Given the description of an element on the screen output the (x, y) to click on. 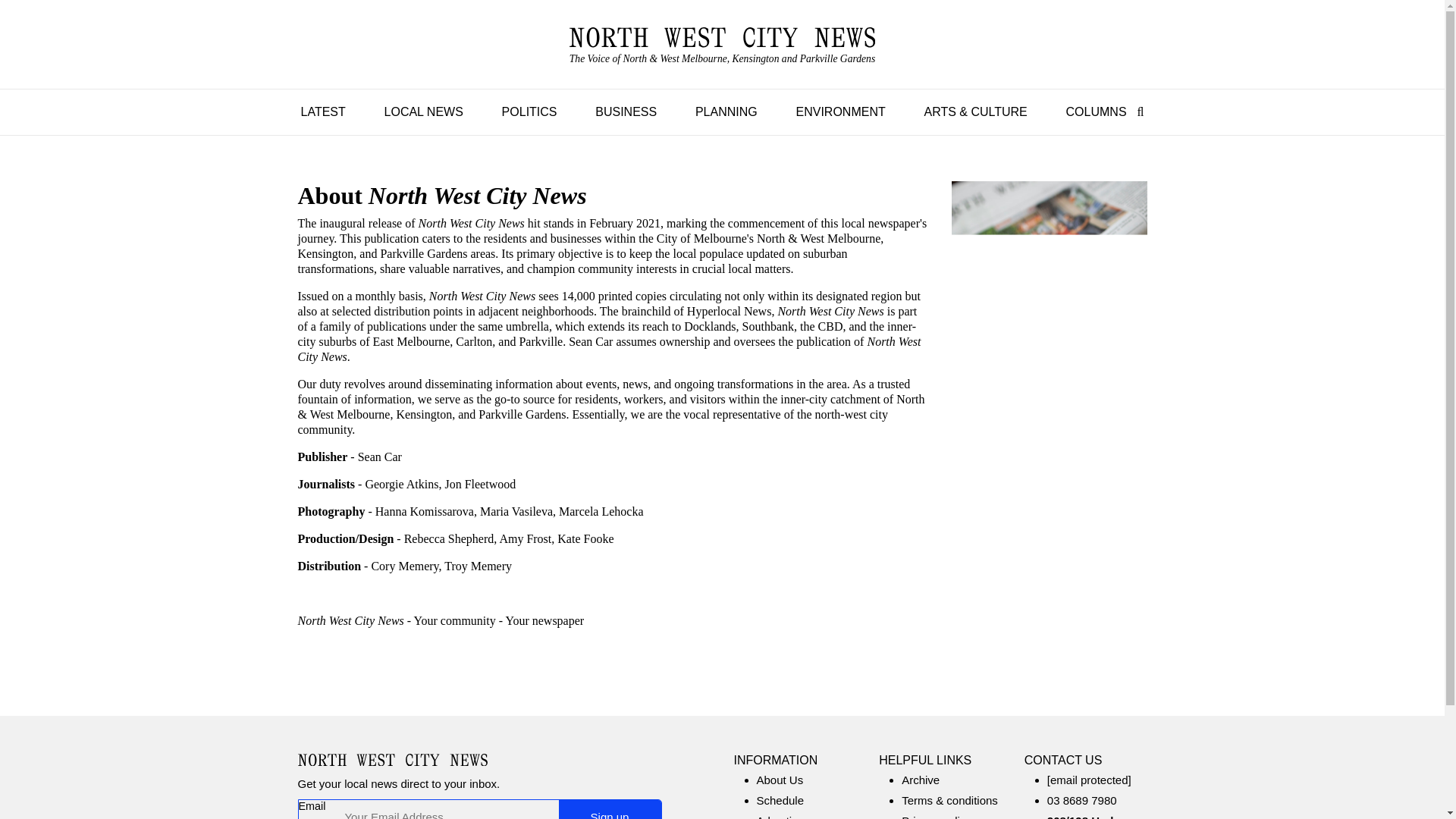
PLANNING (726, 111)
Search (1136, 111)
LATEST (322, 111)
Schedule (781, 799)
LOCAL NEWS (423, 111)
Advertise (781, 816)
BUSINESS (625, 111)
ENVIRONMENT (840, 111)
COLUMNS (1095, 111)
About Us (780, 779)
Privacy policy (936, 816)
Sign up (609, 809)
POLITICS (529, 111)
North West City News (722, 44)
03 8689 7980 (1081, 799)
